Given the description of an element on the screen output the (x, y) to click on. 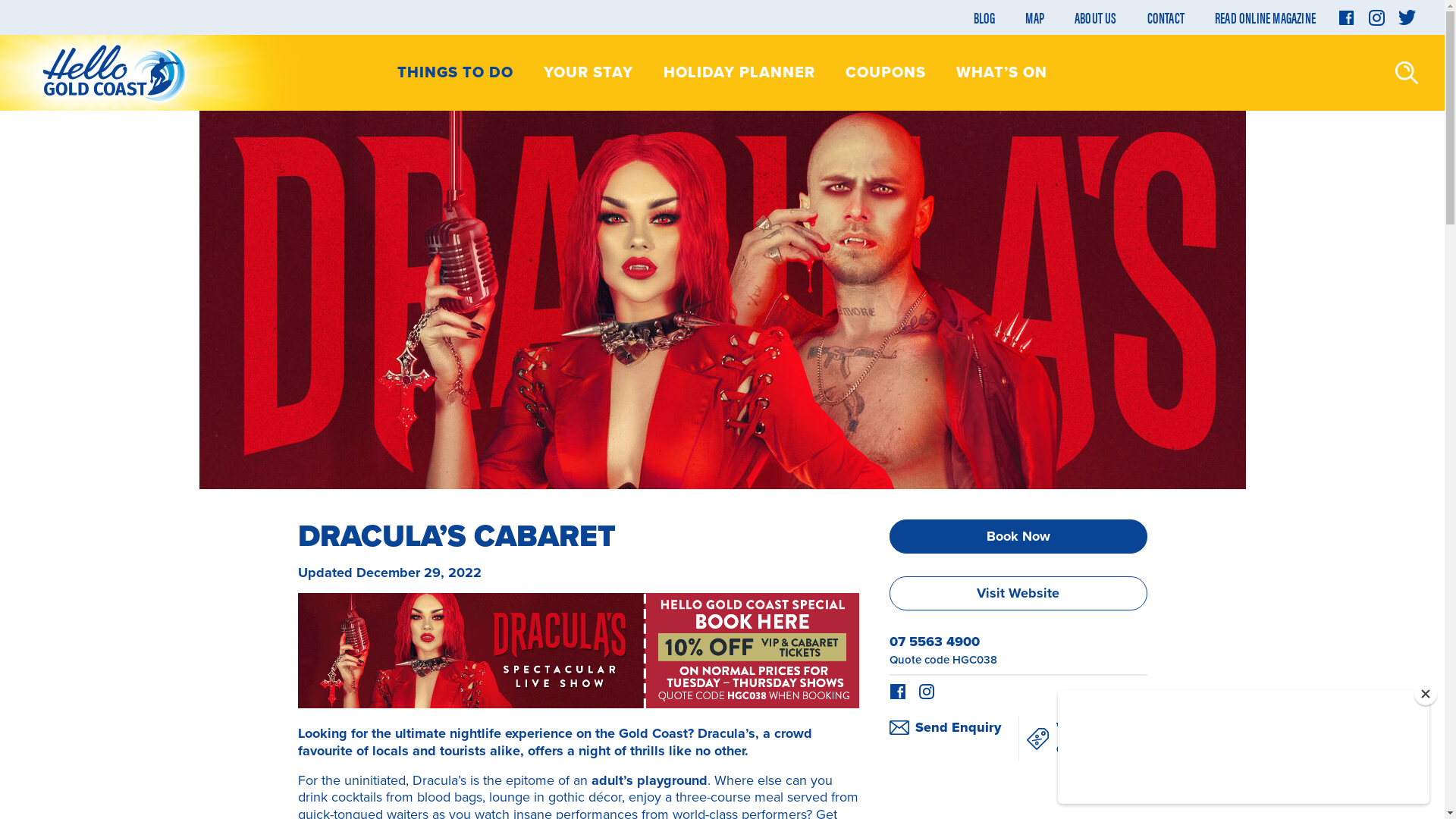
MAP Element type: text (1034, 17)
READ ONLINE MAGAZINE Element type: text (1264, 17)
CONTACT Element type: text (1165, 17)
THINGS TO DO Element type: text (455, 72)
Send Enquiry Element type: text (952, 727)
HOLIDAY PLANNER Element type: text (739, 72)
ABOUT US Element type: text (1095, 17)
07 5563 4900 Element type: text (933, 641)
BLOG Element type: text (984, 17)
Book Now Element type: text (1017, 536)
View Coupons Element type: text (1081, 738)
YOUR STAY Element type: text (588, 72)
Visit Website Element type: text (1017, 593)
COUPONS Element type: text (885, 72)
